Given the description of an element on the screen output the (x, y) to click on. 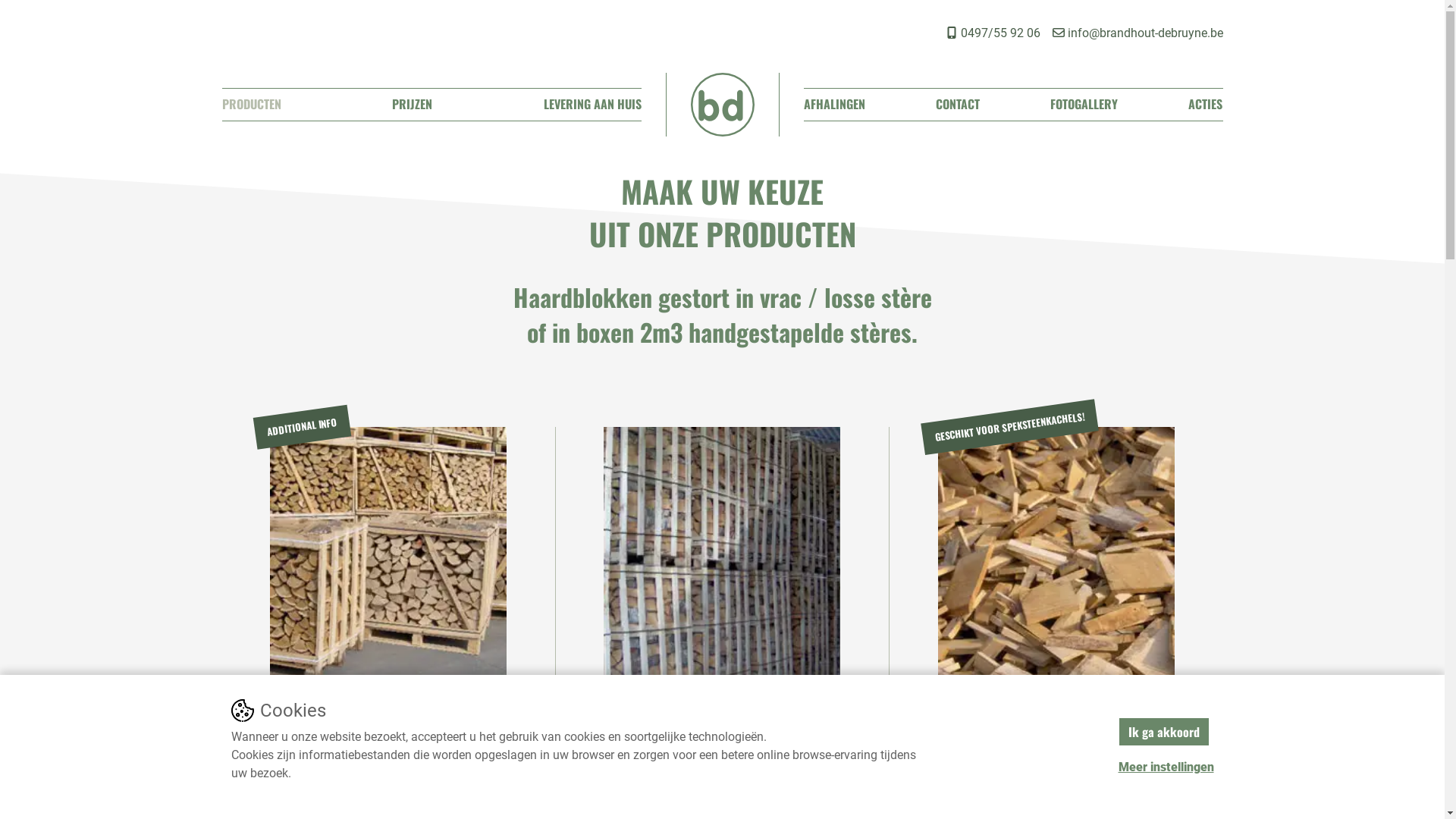
BERKENHOUT Element type: hover (721, 583)
LEVERING AAN HUIS Element type: text (591, 103)
FOTOGALLERY Element type: text (1083, 103)
AFHALINGEN Element type: text (834, 103)
PRODUCTEN Element type: text (250, 103)
CONTACT Element type: text (957, 103)
0497/55 92 06 Element type: text (991, 32)
EIKENLATTEN Element type: hover (1055, 584)
info@brandhout-debruyne.be Element type: text (1137, 32)
PRIJZEN Element type: text (412, 103)
HAARDBLOKKEN Element type: hover (387, 583)
ACTIES Element type: text (1205, 103)
Meer instellingen Element type: text (1165, 766)
Ik ga akkoord Element type: text (1162, 731)
